Given the description of an element on the screen output the (x, y) to click on. 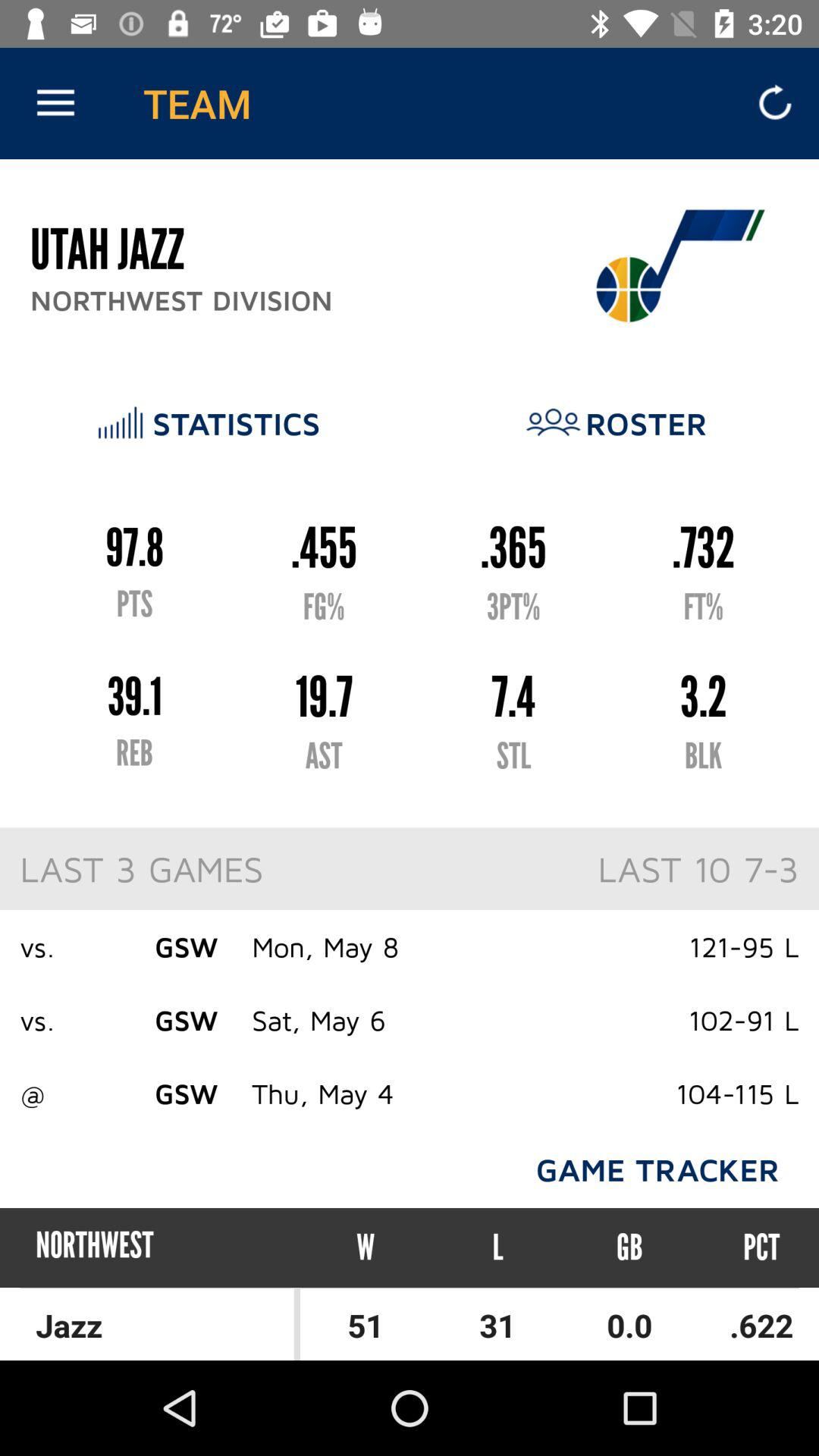
launch item below the thu, may 4 (365, 1247)
